Given the description of an element on the screen output the (x, y) to click on. 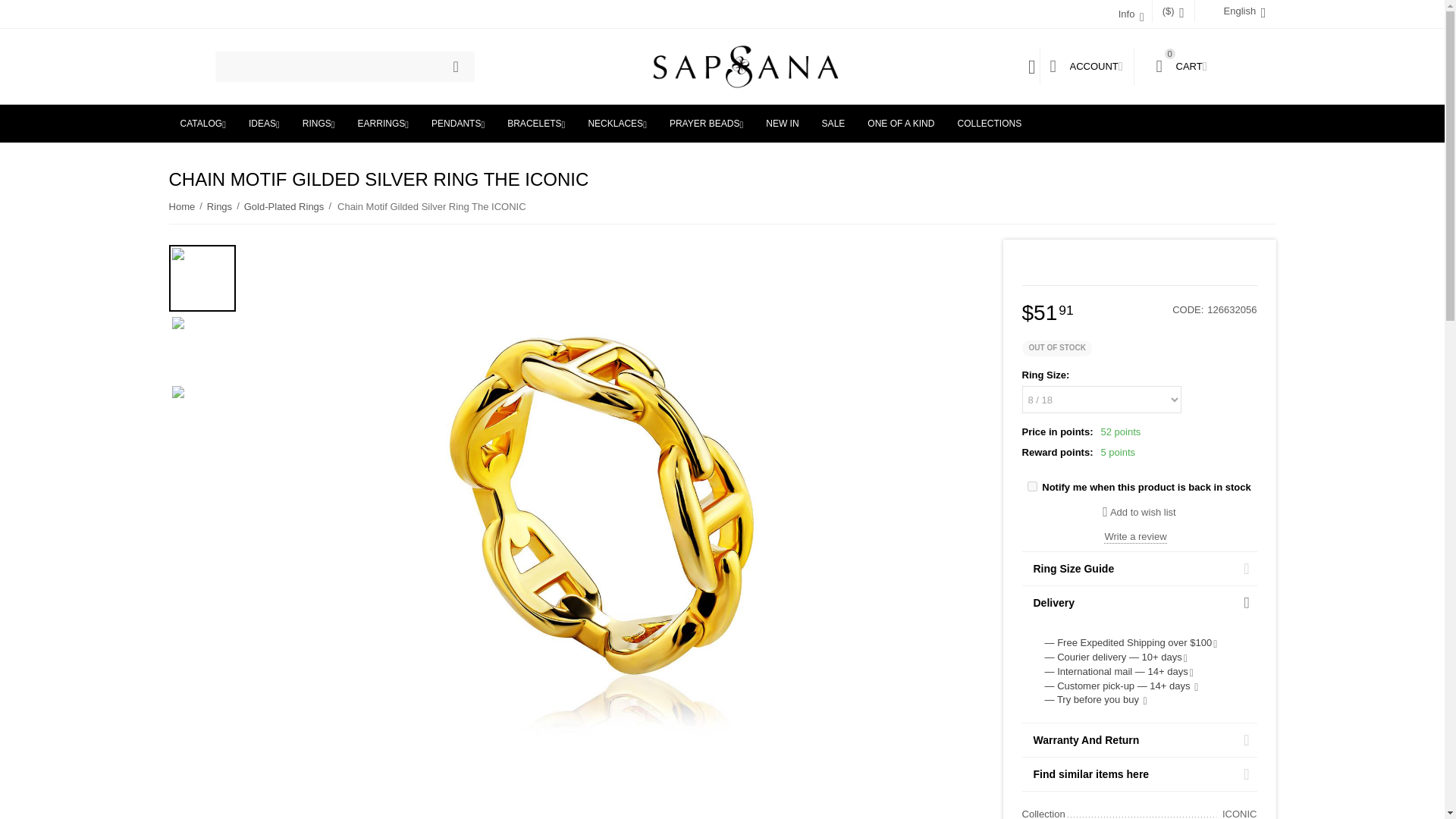
Sapsana logo (1181, 66)
on (746, 66)
Search (1031, 486)
Info (455, 66)
English (1126, 13)
ACCOUNT (1234, 11)
Sapsana logo (1086, 66)
Search products (746, 65)
CATALOG (344, 66)
